Given the description of an element on the screen output the (x, y) to click on. 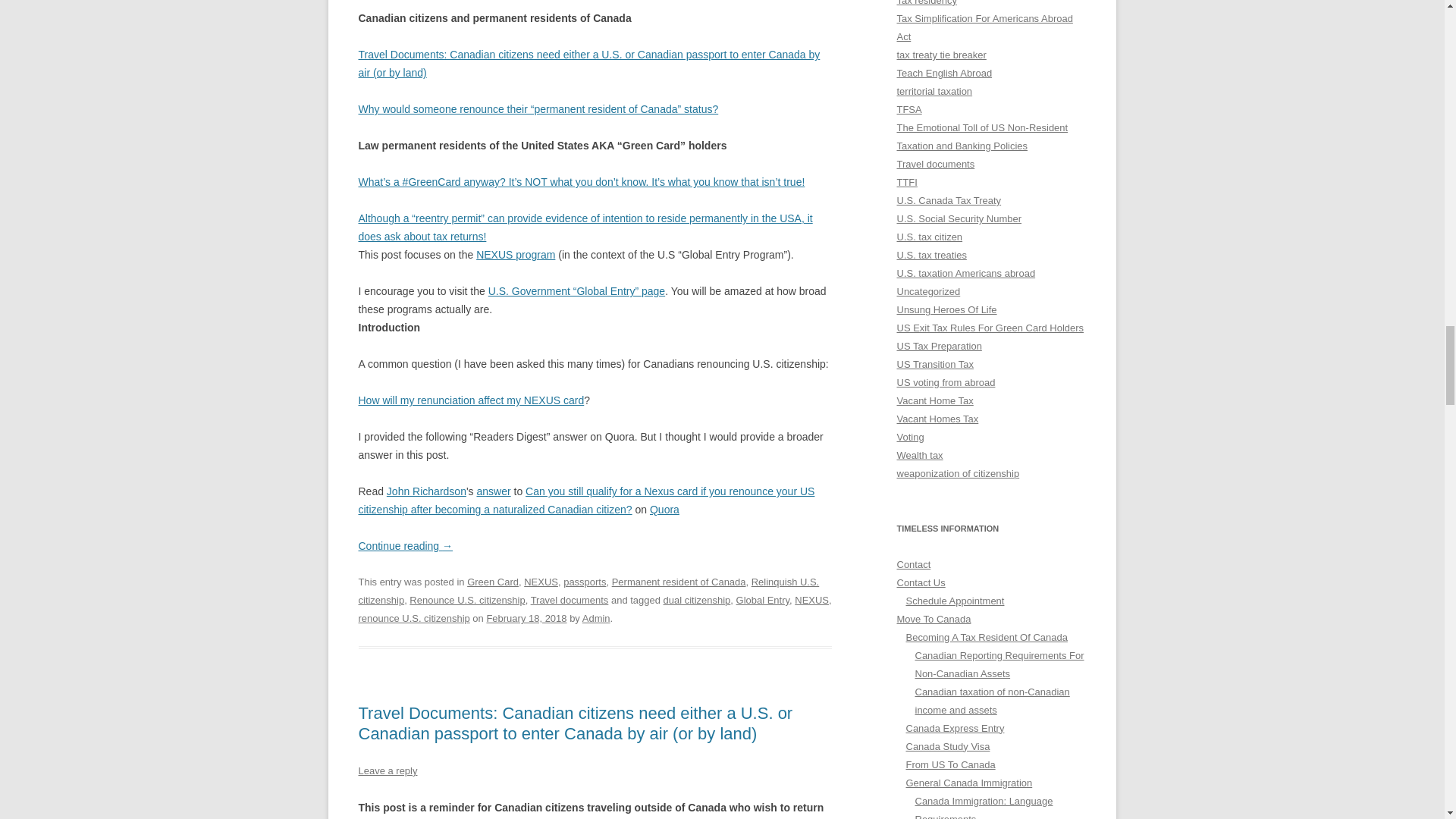
2:43 pm (526, 618)
View all posts by Admin (596, 618)
